Given the description of an element on the screen output the (x, y) to click on. 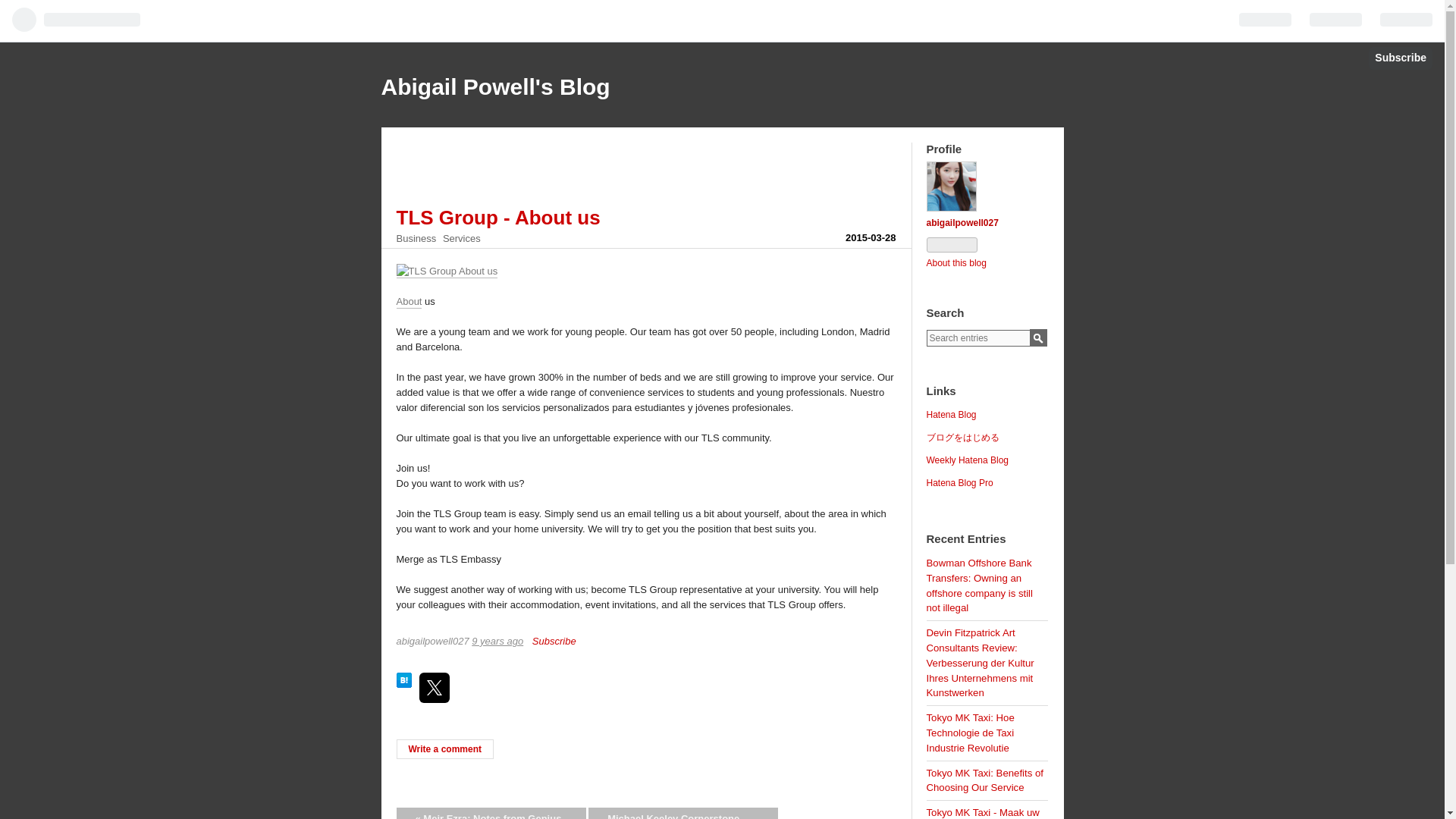
Tokyo MK Taxi: Hoe Technologie de Taxi Industrie Revolutie (970, 732)
Tokyo MK Taxi - Maak uw reis meer plezierig (982, 812)
Subscribe (554, 641)
abigailpowell027 (962, 222)
2015-03-28T05:34:49Z (496, 641)
Search (1037, 337)
Hatena Blog Pro (959, 482)
Recent Entries (966, 539)
